Given the description of an element on the screen output the (x, y) to click on. 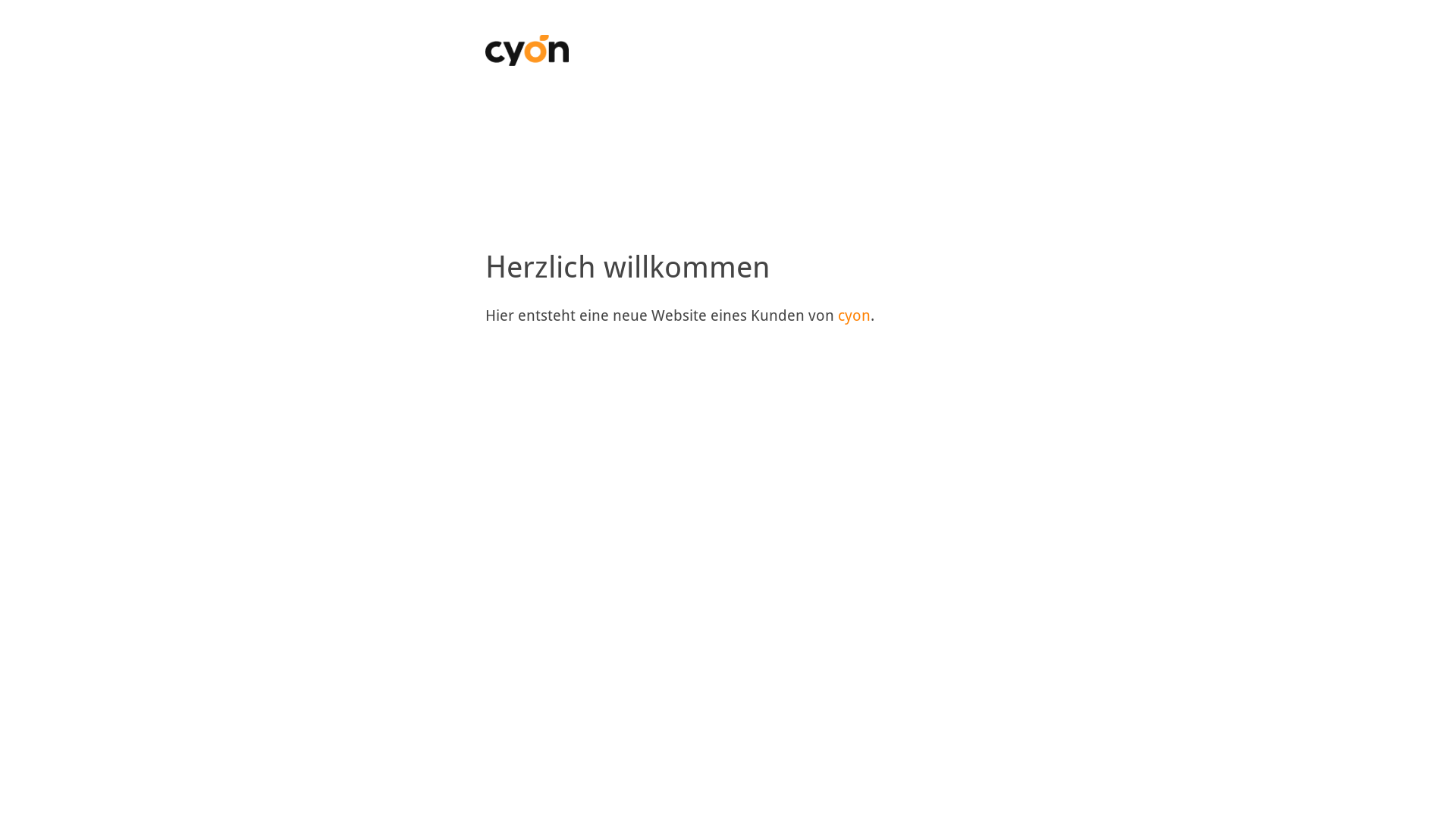
cyon Element type: text (853, 315)
